Given the description of an element on the screen output the (x, y) to click on. 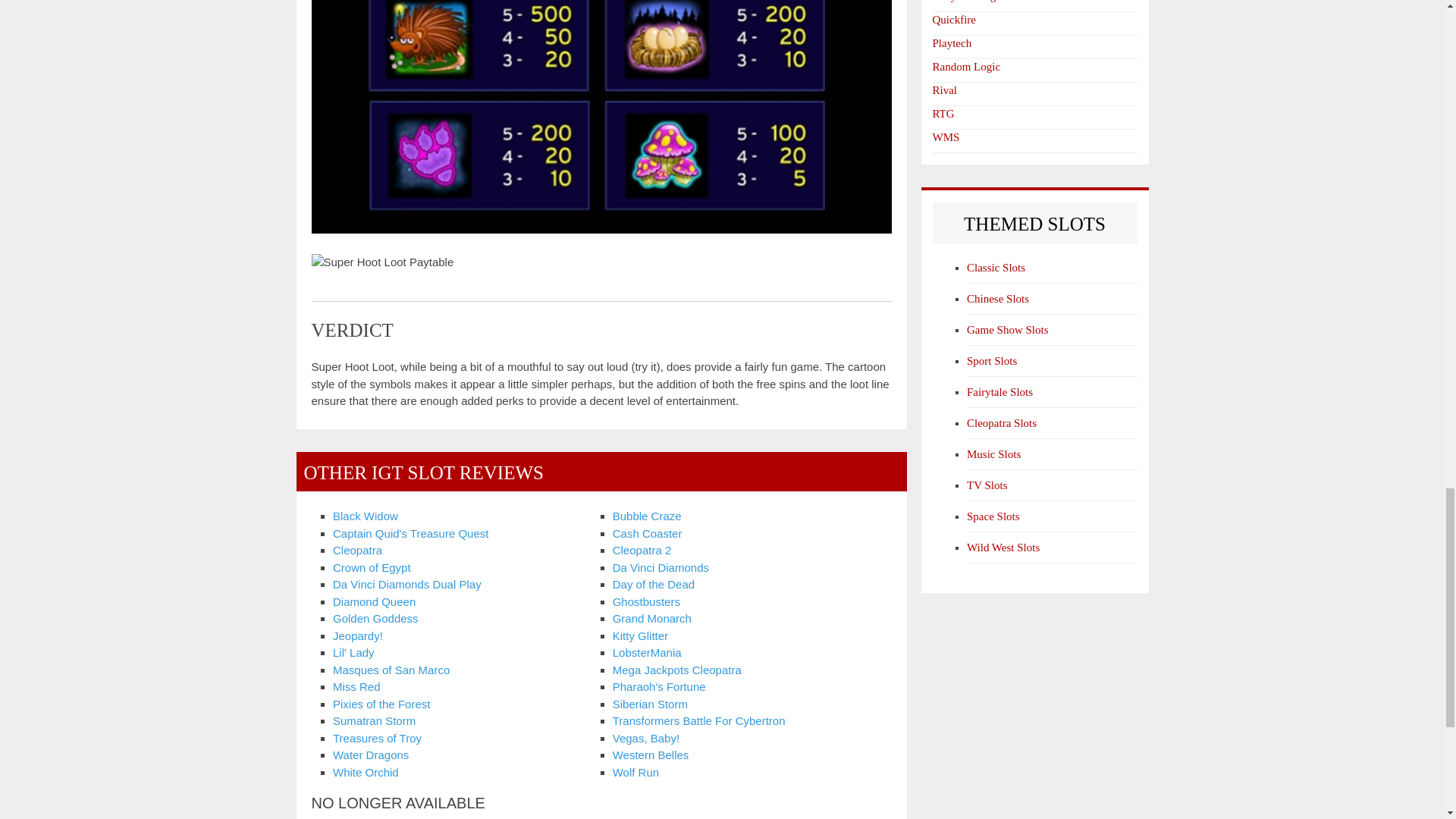
Transformers Battle For Cybertron (699, 720)
Masques of San Marco (391, 669)
Cash Coaster (647, 533)
Vegas, Baby! (645, 738)
Lil' Lady (353, 652)
Siberian Storm (649, 703)
Day of the Dead (653, 584)
White Orchid (365, 771)
Ghostbusters (645, 601)
Golden Goddess (376, 617)
Captain Quid's Treasure Quest (410, 533)
Diamond Queen (373, 601)
Bubble Craze (646, 515)
Grand Monarch (651, 617)
Da Vinci Diamonds Dual Play (407, 584)
